Given the description of an element on the screen output the (x, y) to click on. 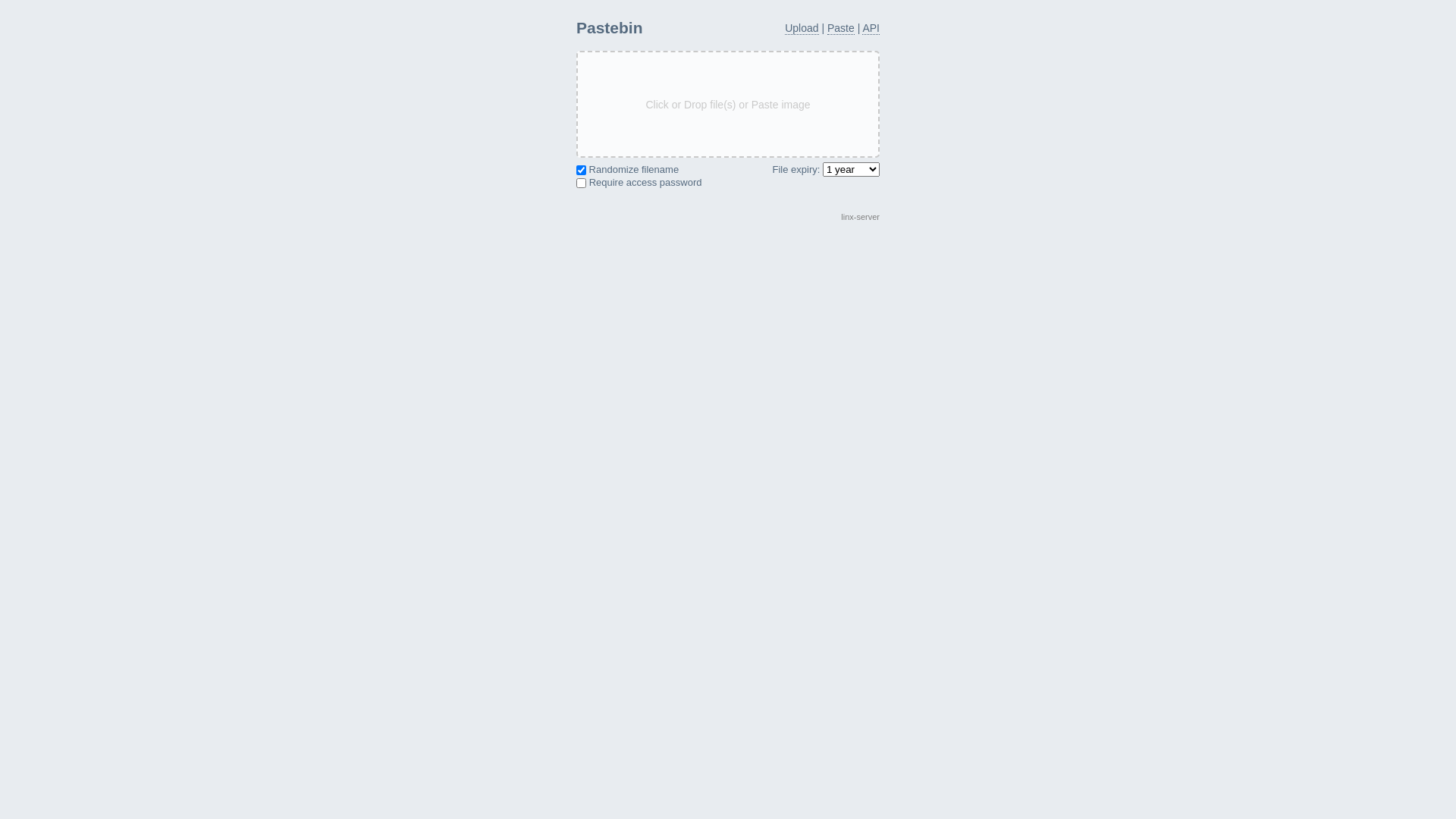
Paste Element type: text (840, 27)
linx-server Element type: text (859, 216)
Upload Element type: text (801, 27)
Pastebin Element type: text (609, 27)
API Element type: text (870, 27)
